Given the description of an element on the screen output the (x, y) to click on. 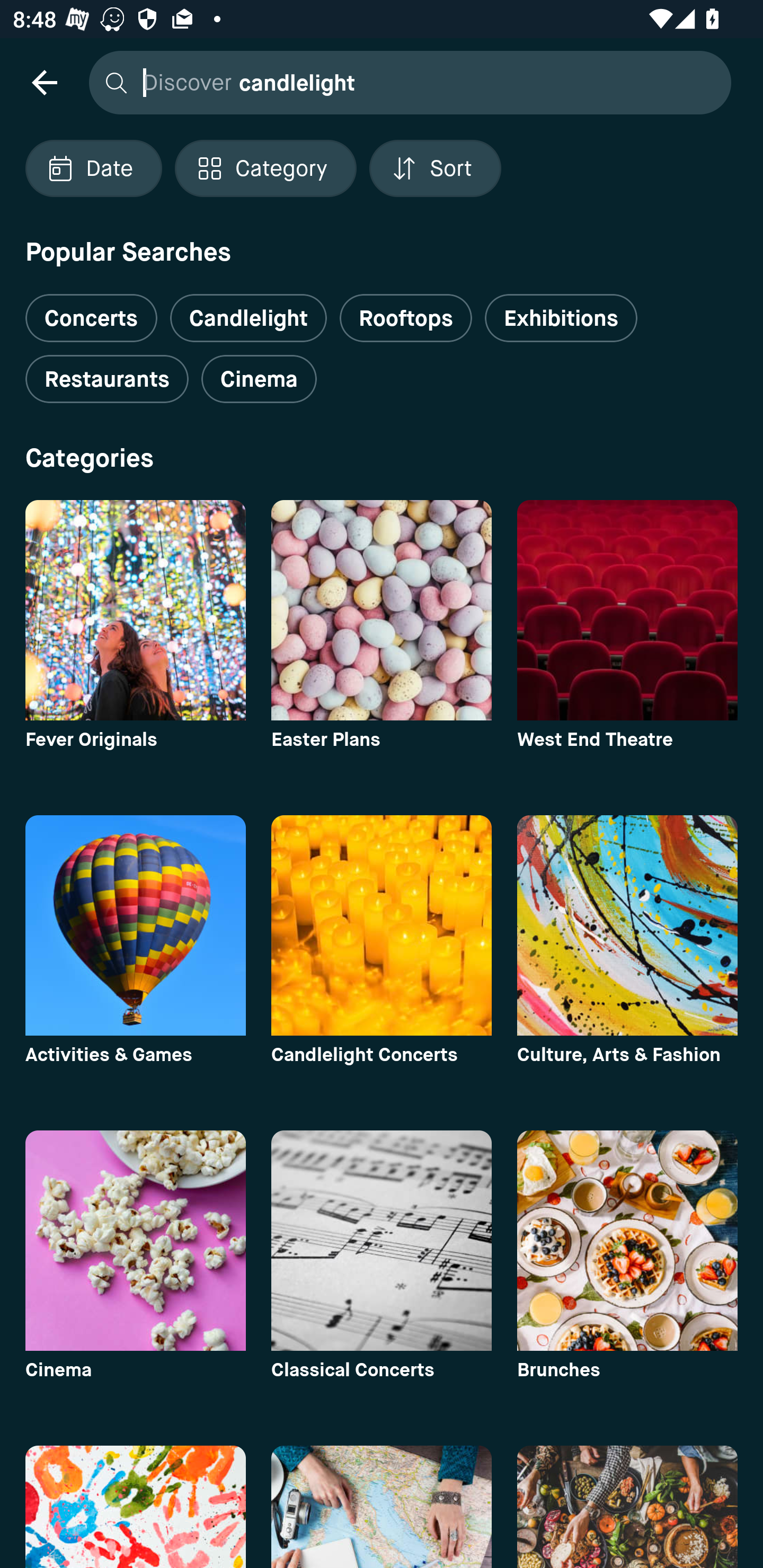
navigation icon (44, 81)
Discover candlelight (405, 81)
Localized description Date (93, 168)
Localized description Category (265, 168)
Localized description Sort (435, 168)
Concerts (91, 310)
Candlelight (248, 317)
Rooftops (405, 317)
Exhibitions (560, 317)
Restaurants (106, 379)
Cinema (258, 379)
category image (135, 609)
category image (381, 609)
category image (627, 609)
category image (135, 924)
category image (381, 924)
category image (627, 924)
category image (135, 1240)
category image (381, 1240)
category image (627, 1240)
category image (135, 1506)
category image (381, 1506)
category image (627, 1506)
